Given the description of an element on the screen output the (x, y) to click on. 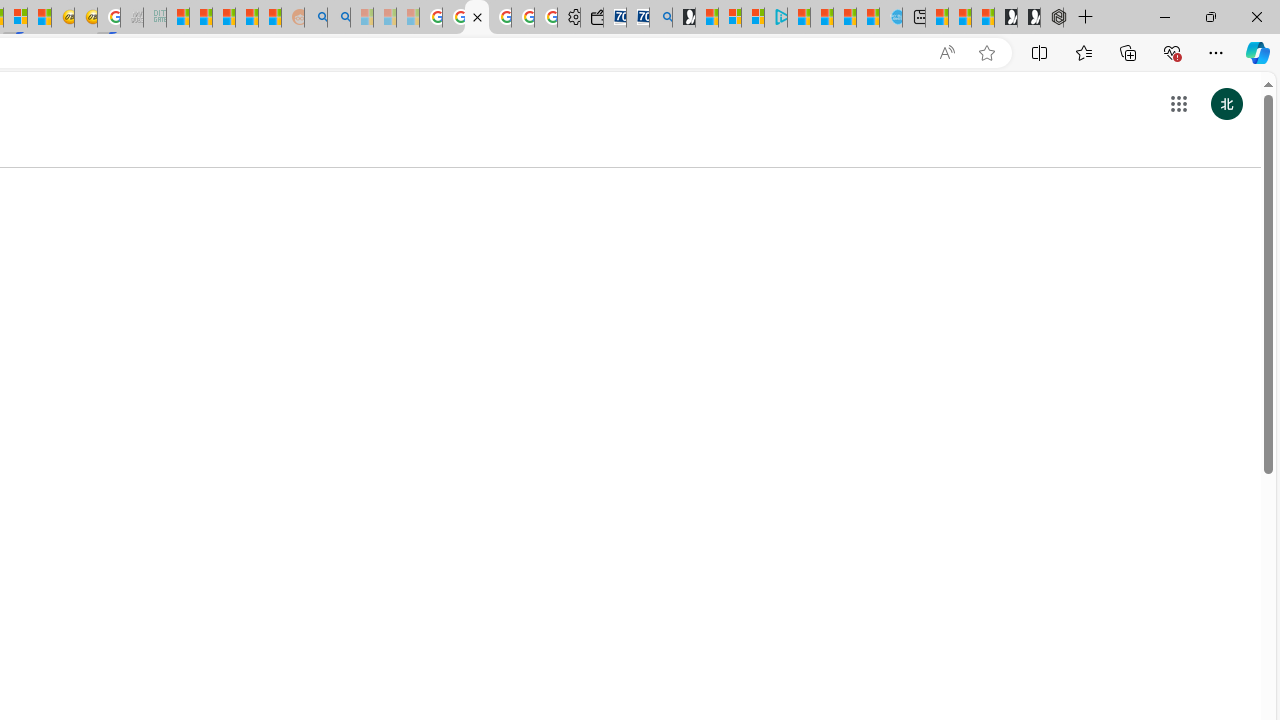
DITOGAMES AG Imprint - Sleeping (154, 17)
